Given the description of an element on the screen output the (x, y) to click on. 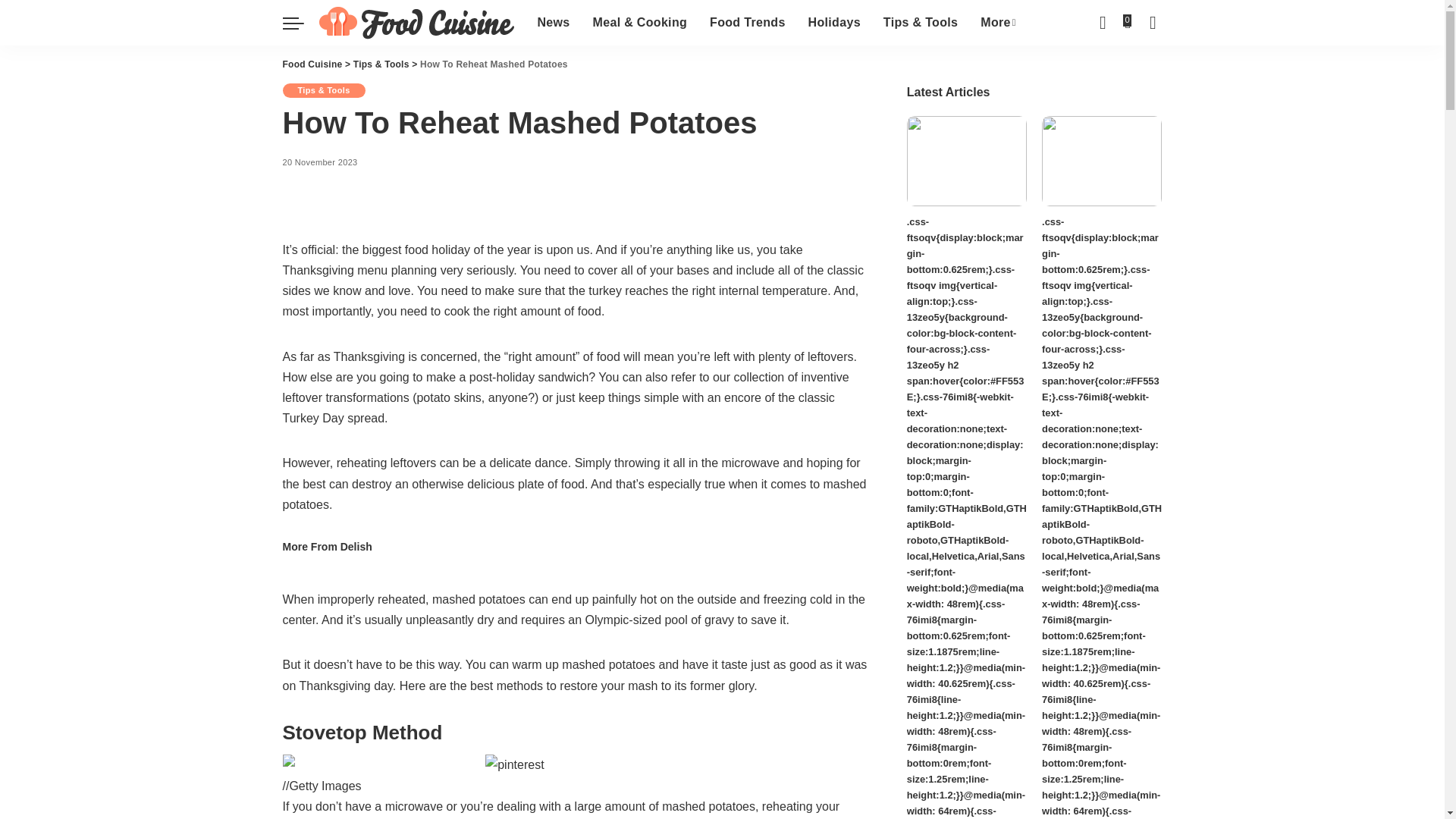
Holidays (834, 22)
Food Trends (747, 22)
Go to Food Cuisine. (312, 63)
2023-11-20T17:17:33-05:00 (319, 162)
Food Cuisine (415, 22)
News (552, 22)
More (998, 22)
